Given the description of an element on the screen output the (x, y) to click on. 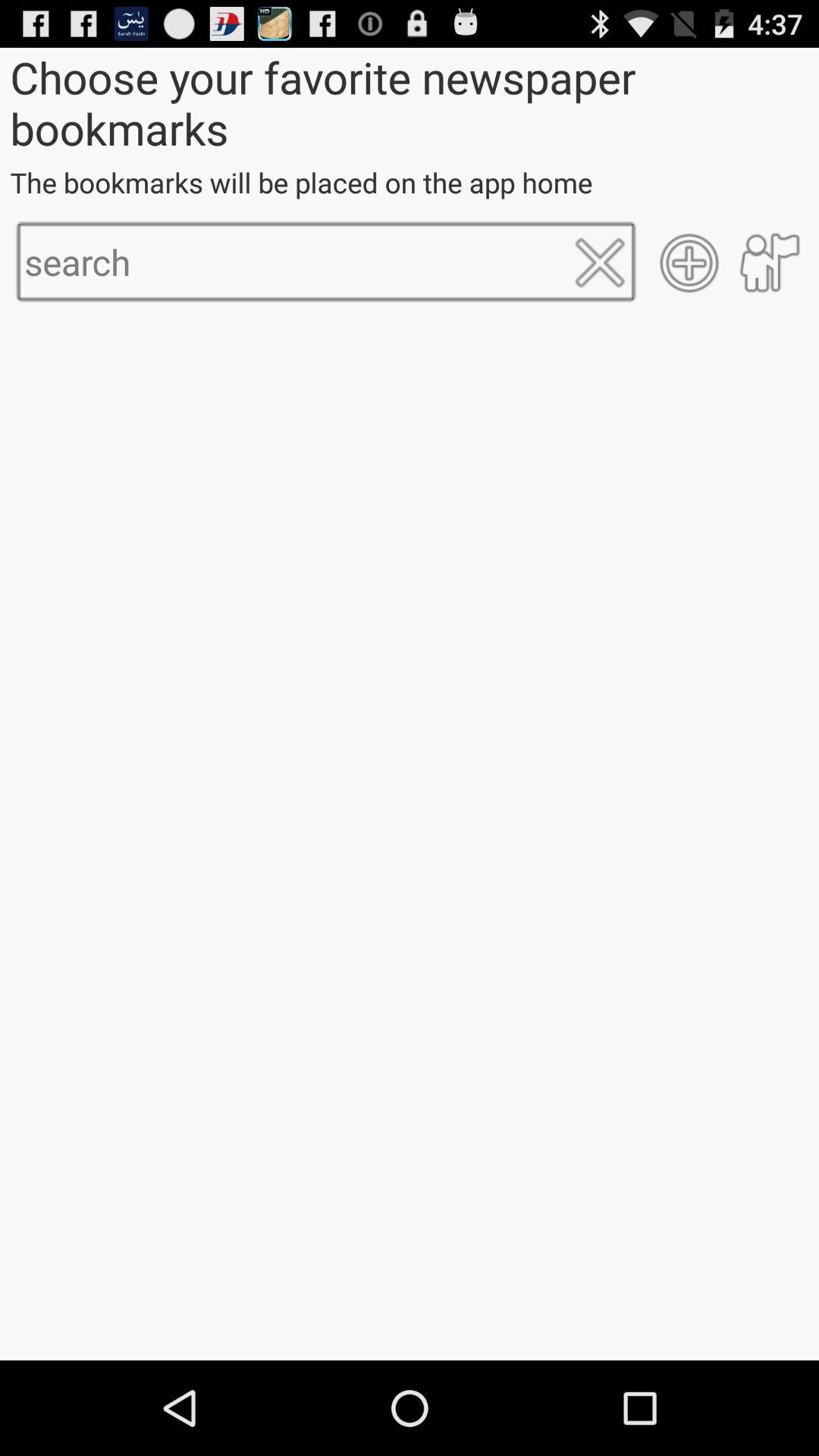
turn off icon below the the bookmarks will (599, 262)
